Given the description of an element on the screen output the (x, y) to click on. 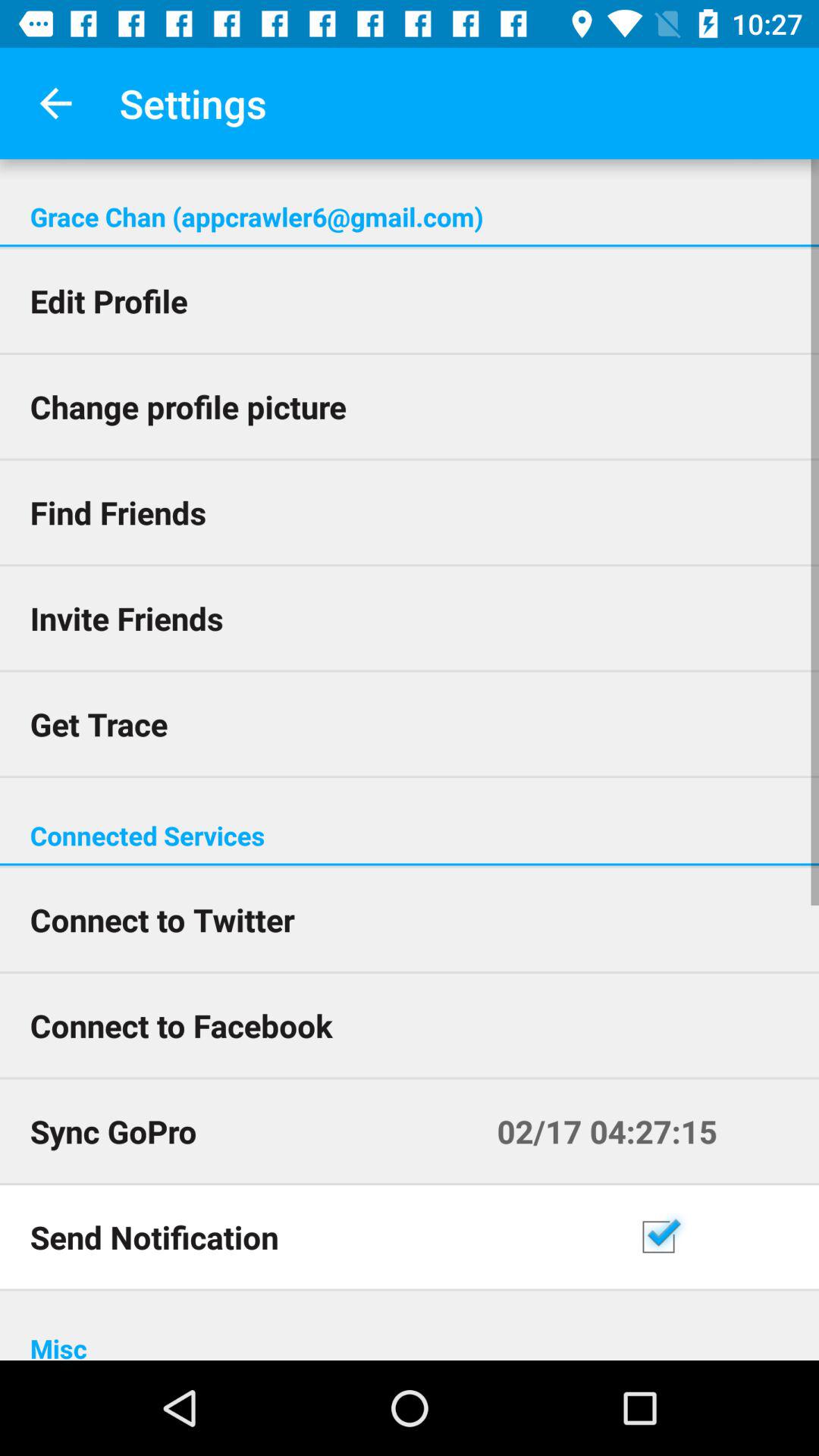
open icon to the left of the settings app (55, 103)
